Given the description of an element on the screen output the (x, y) to click on. 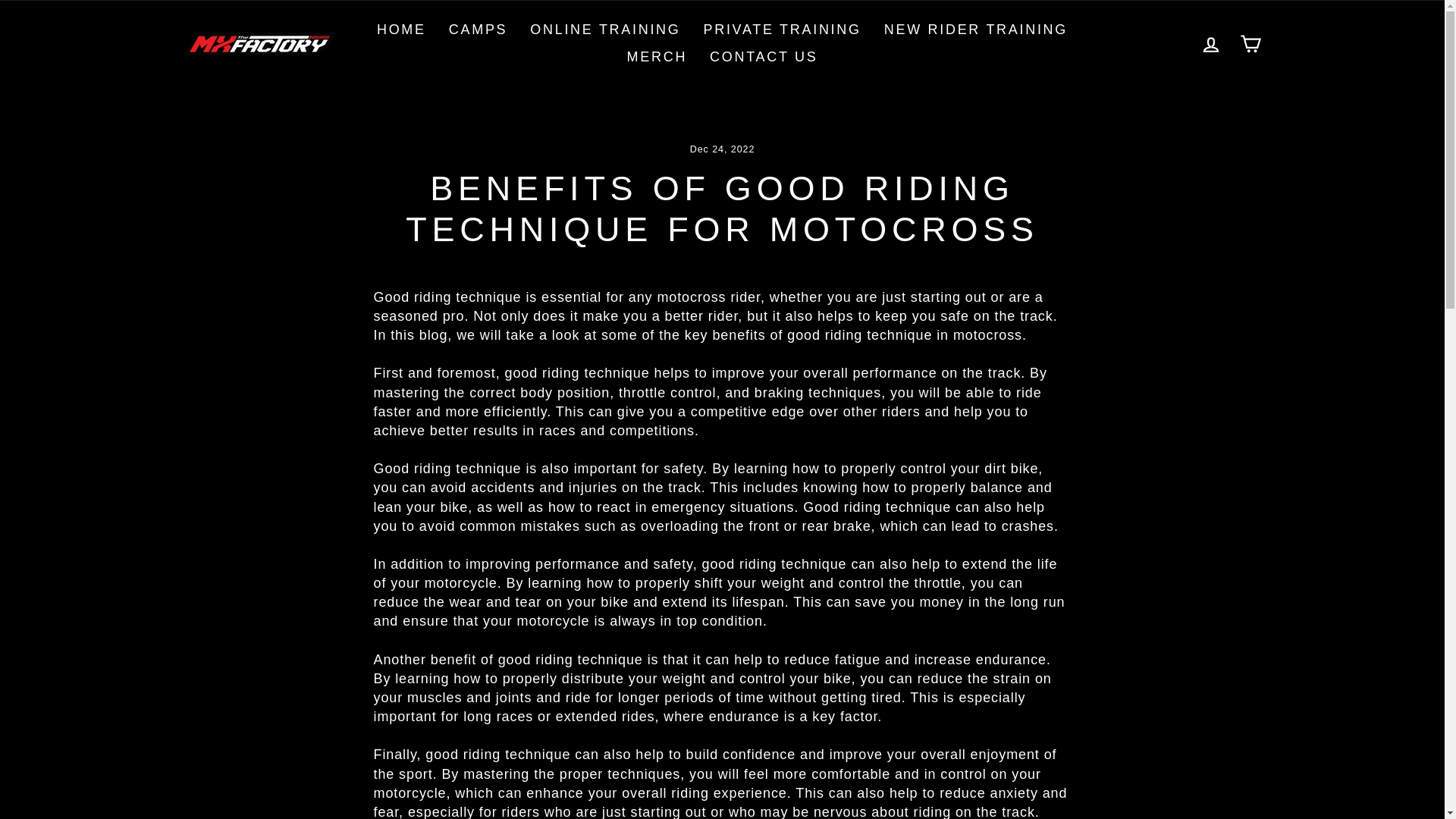
LOG IN (1210, 43)
HOME (401, 29)
CAMPS (478, 29)
ONLINE TRAINING (604, 29)
MERCH (656, 58)
NEW RIDER TRAINING (975, 29)
CONTACT US (763, 58)
PRIVATE TRAINING (781, 29)
CART (1249, 43)
